Given the description of an element on the screen output the (x, y) to click on. 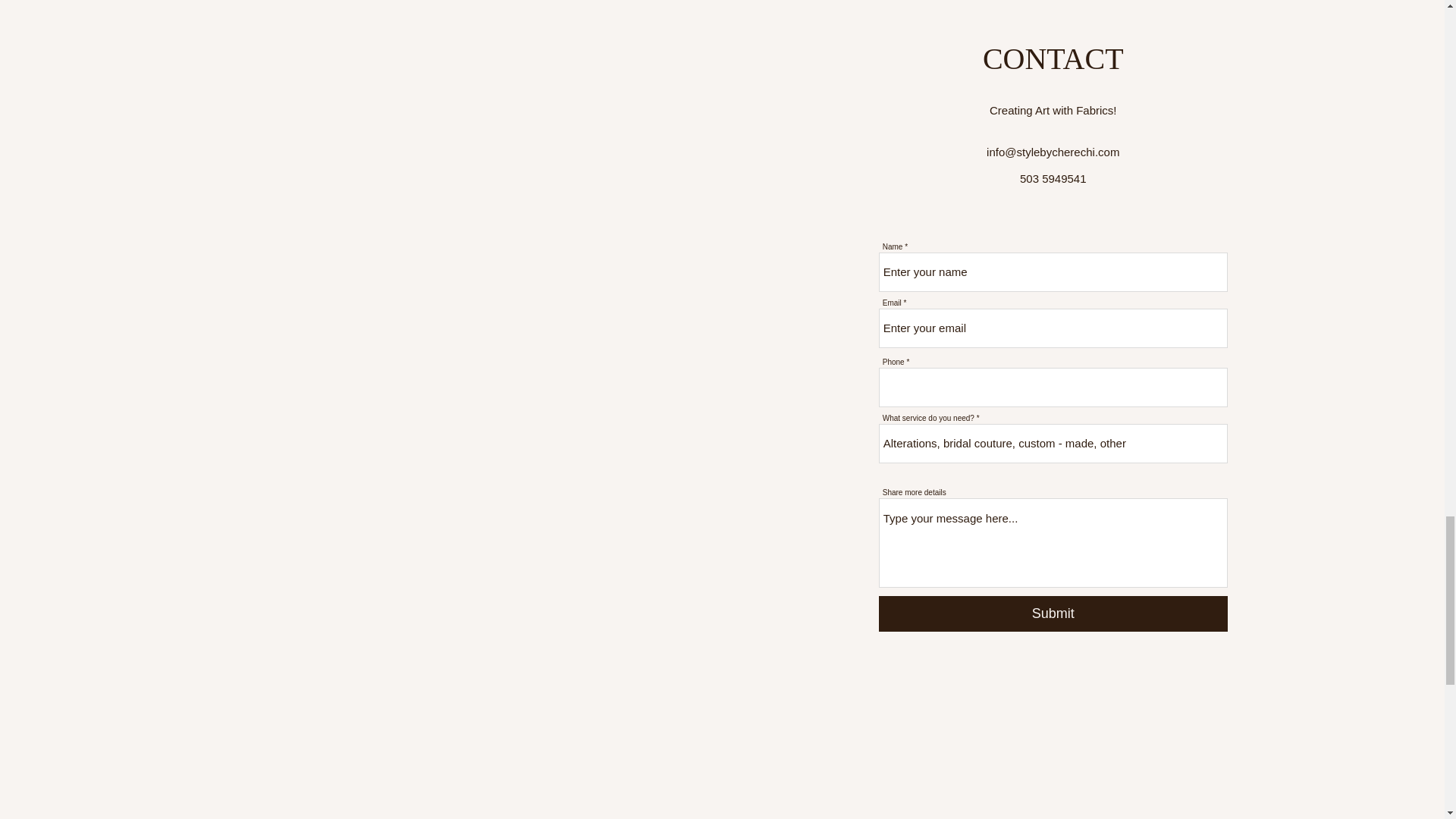
Submit (1053, 613)
